Given the description of an element on the screen output the (x, y) to click on. 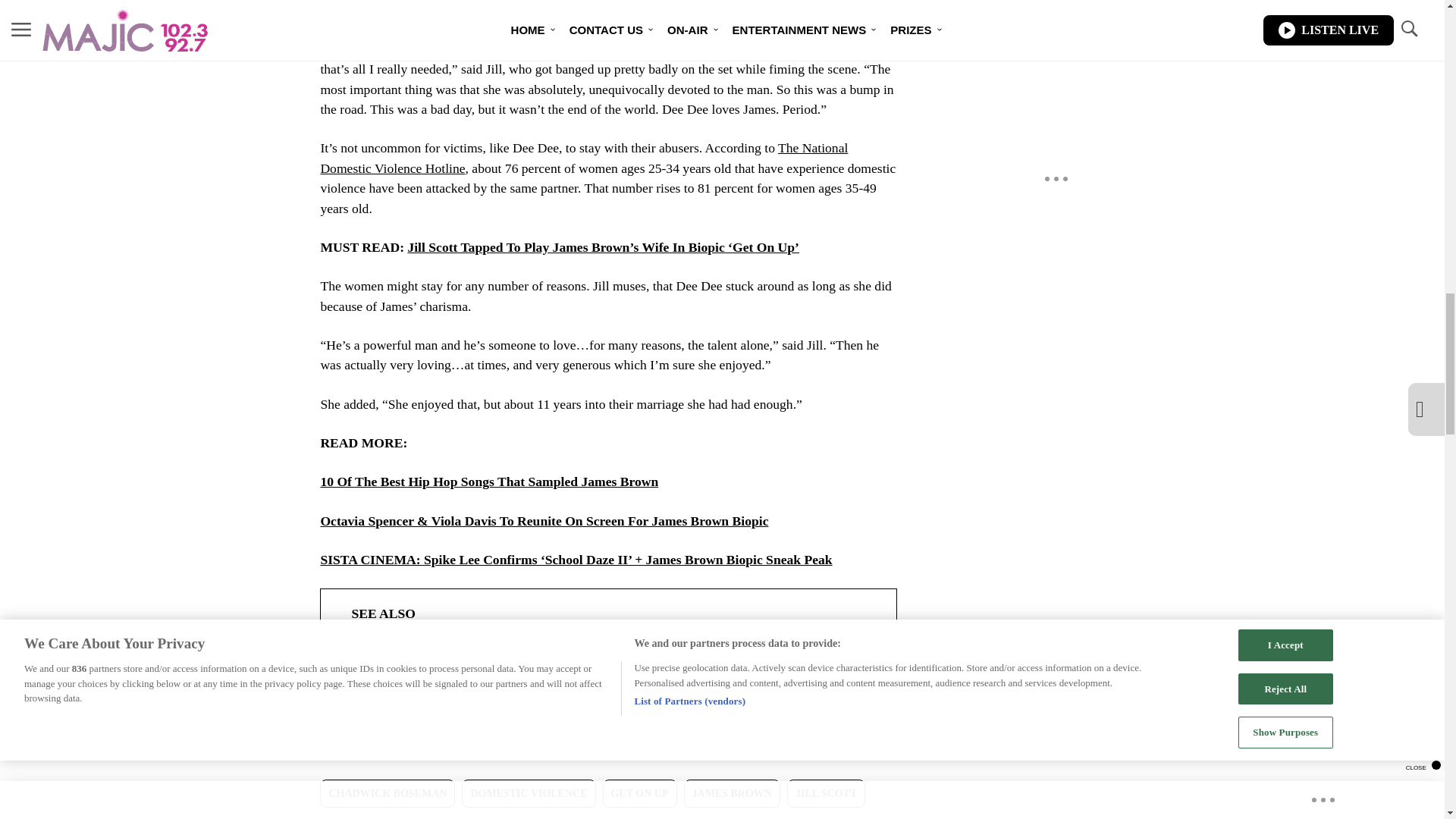
10 Of The Best Hip Hop Songs That Sampled James Brown (489, 481)
10 Of The Best Hip Hop Songs That Sampled James Brown (489, 481)
The National Domestic Violence Hotline (583, 157)
